Given the description of an element on the screen output the (x, y) to click on. 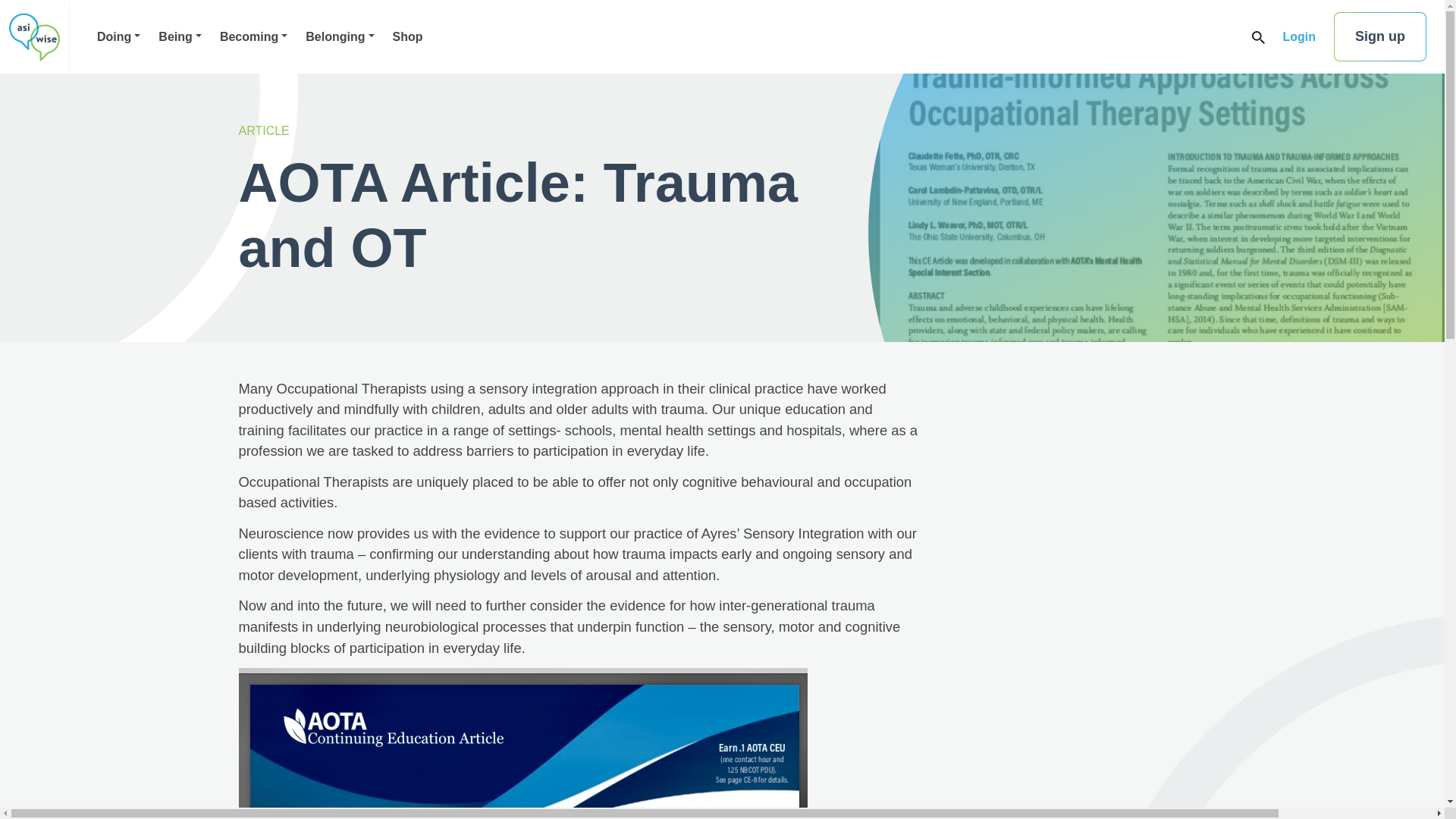
Doing (118, 36)
Doing (118, 36)
Login (1299, 36)
Being (180, 36)
Being (180, 36)
Becoming (252, 36)
Belonging (339, 36)
Belonging (339, 36)
Sign up (1379, 36)
